Given the description of an element on the screen output the (x, y) to click on. 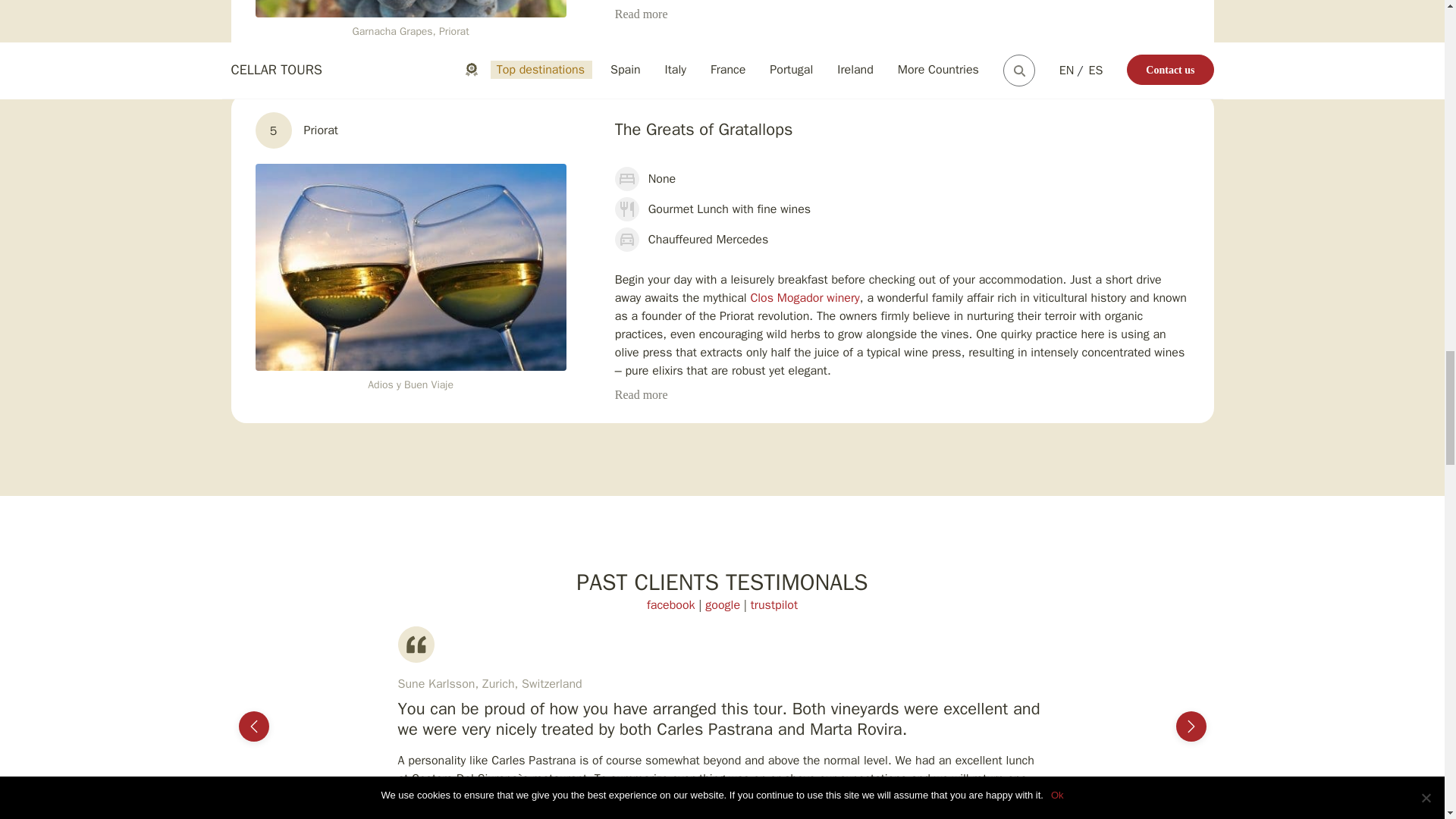
Adios y Buen Viaje (410, 267)
Garnacha Grapes, Priorat (410, 8)
